Given the description of an element on the screen output the (x, y) to click on. 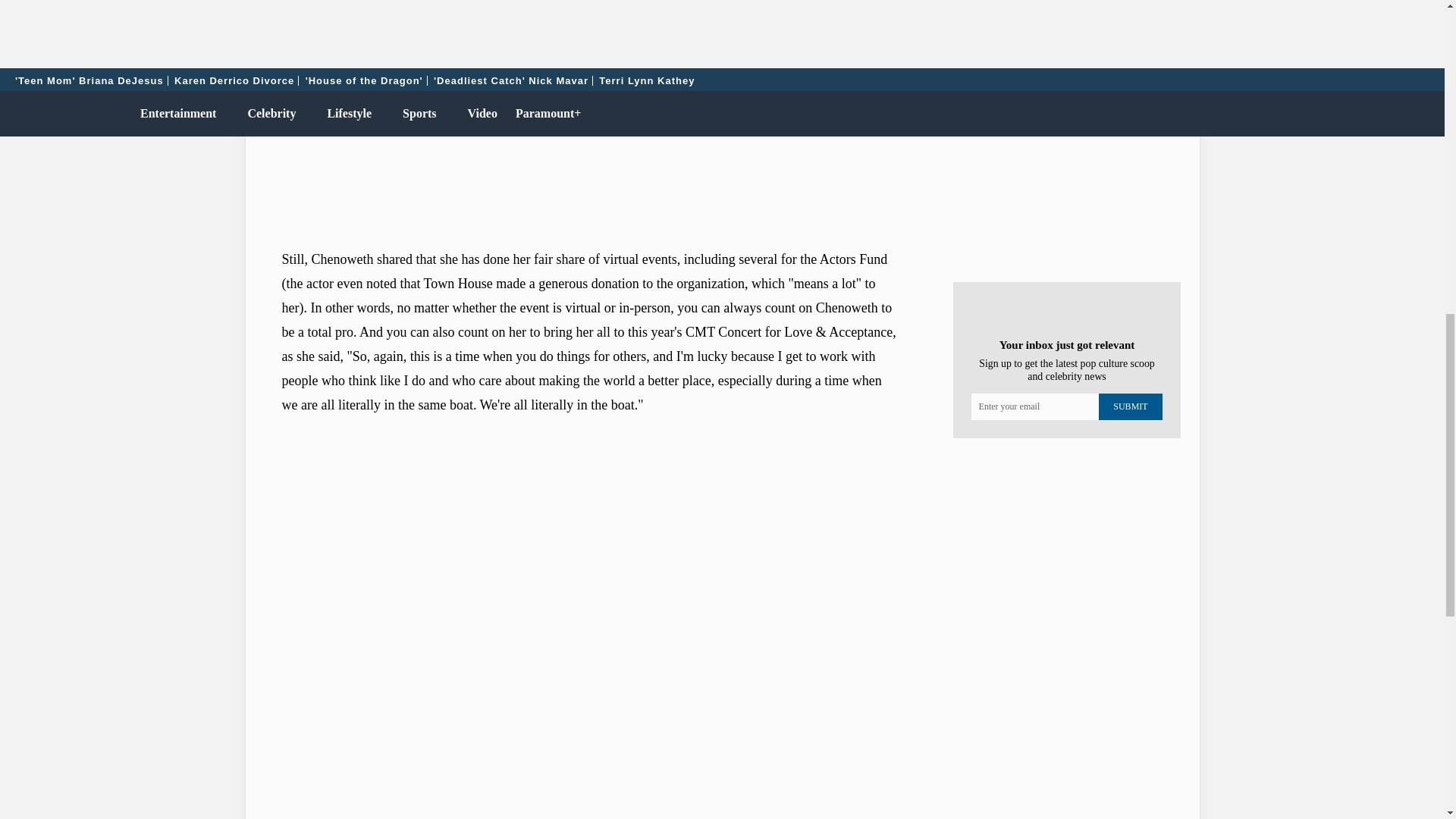
submit (1130, 406)
